Given the description of an element on the screen output the (x, y) to click on. 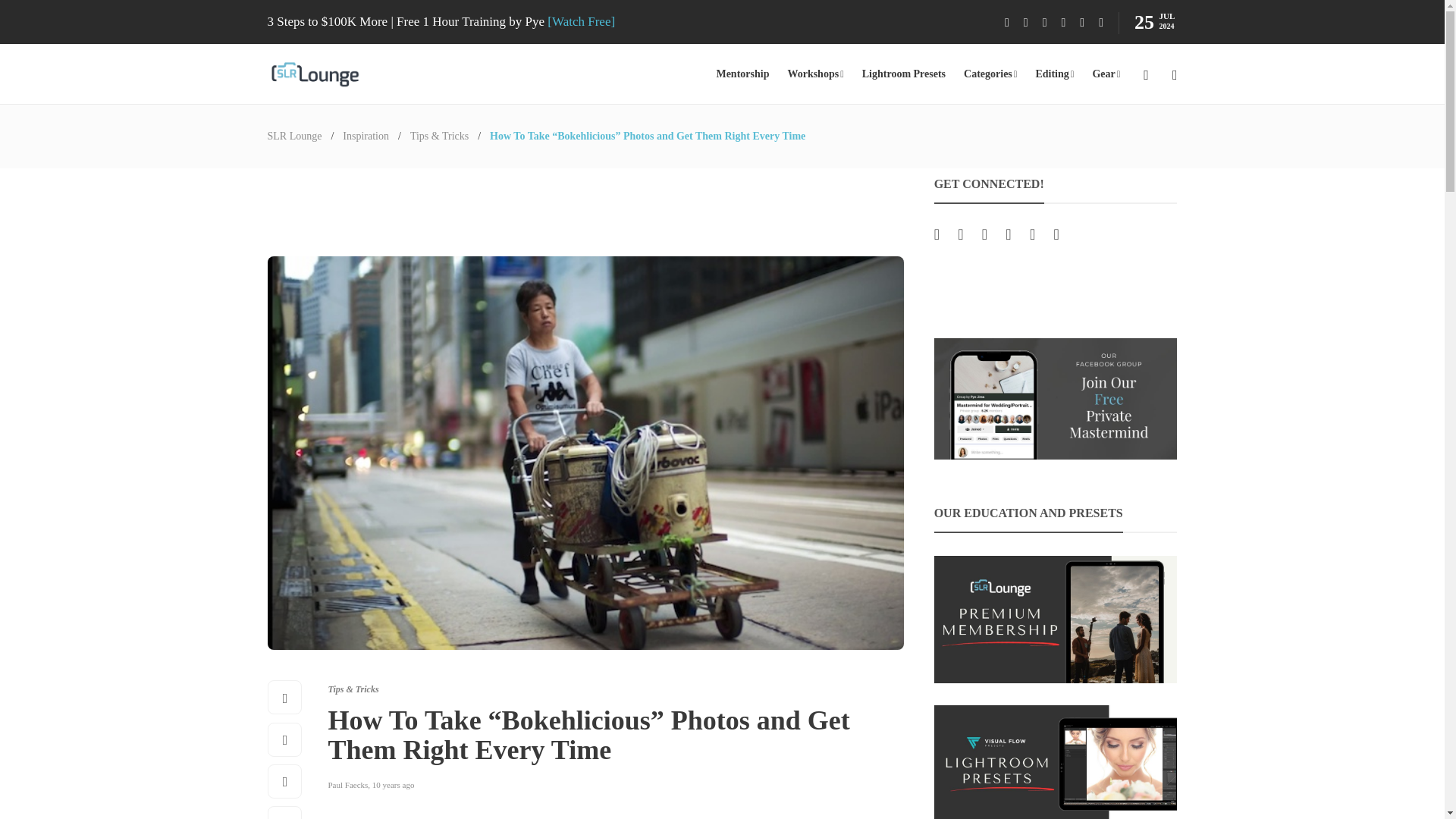
SLR Lounge (293, 135)
